Given the description of an element on the screen output the (x, y) to click on. 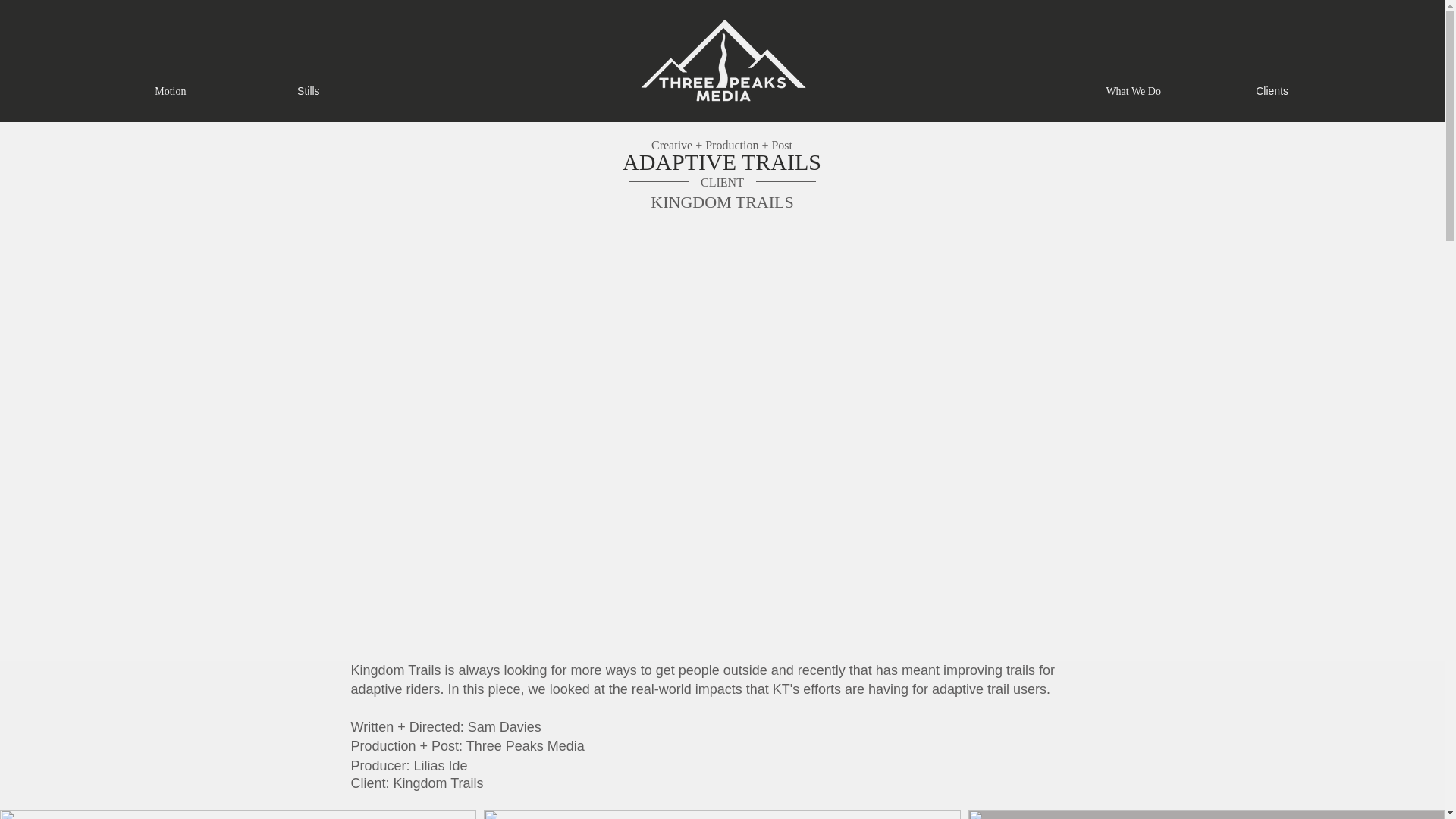
Clients (1272, 91)
Stills (308, 91)
Client: Kingdom Trails (466, 784)
What We Do (1134, 91)
Motion (170, 91)
